Given the description of an element on the screen output the (x, y) to click on. 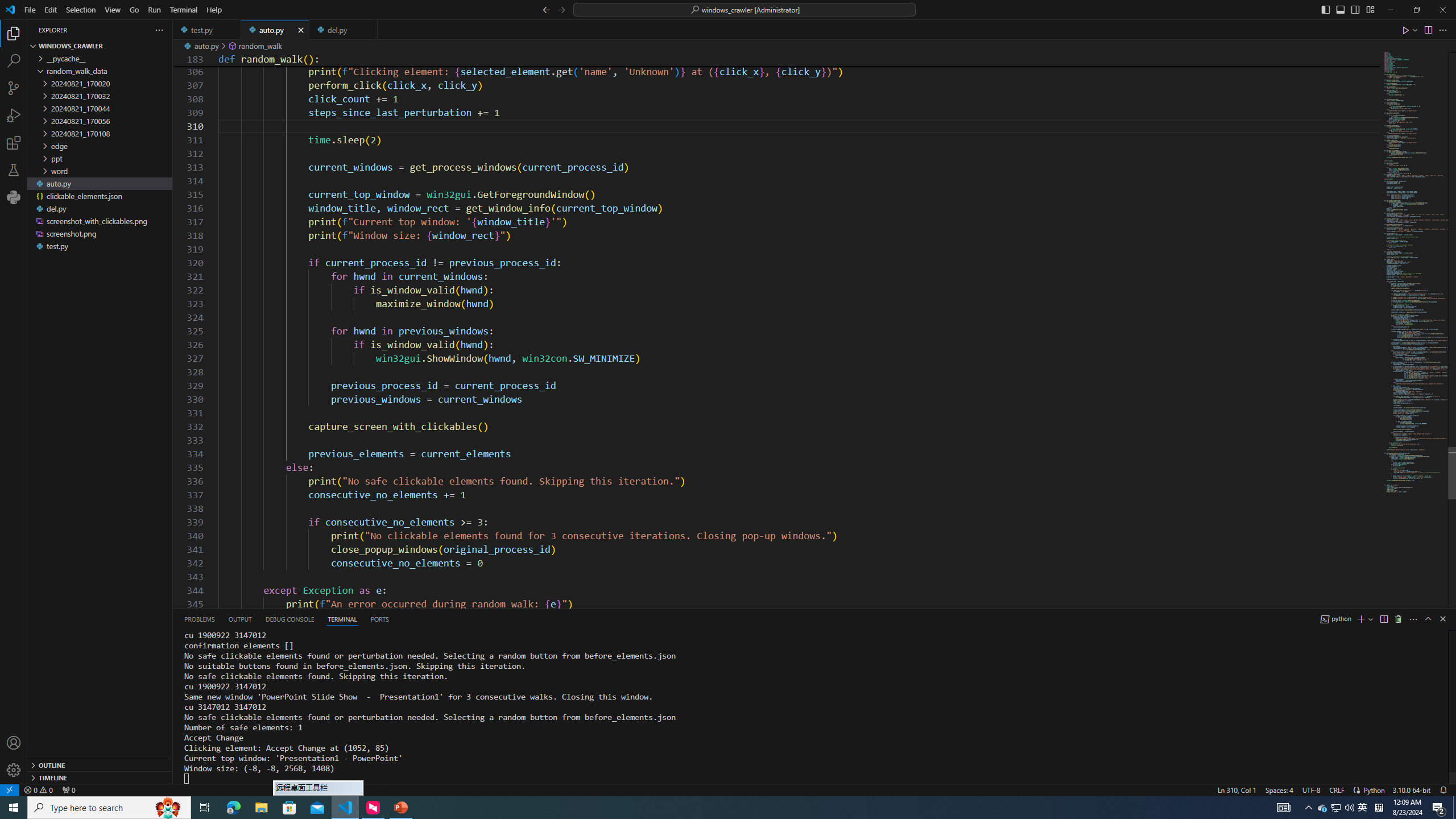
Close (Ctrl+F4) (369, 29)
Run or Debug... (1414, 29)
Tab actions (369, 29)
No Problems (37, 789)
Manage (13, 769)
Run and Debug (Ctrl+Shift+D) (13, 115)
Source Control (Ctrl+Shift+G) (13, 87)
Manage (13, 755)
Split Editor Right (Ctrl+\) [Alt] Split Editor Down (1428, 29)
Timeline Section (99, 777)
Kill Terminal (1398, 618)
del.py (342, 29)
